Given the description of an element on the screen output the (x, y) to click on. 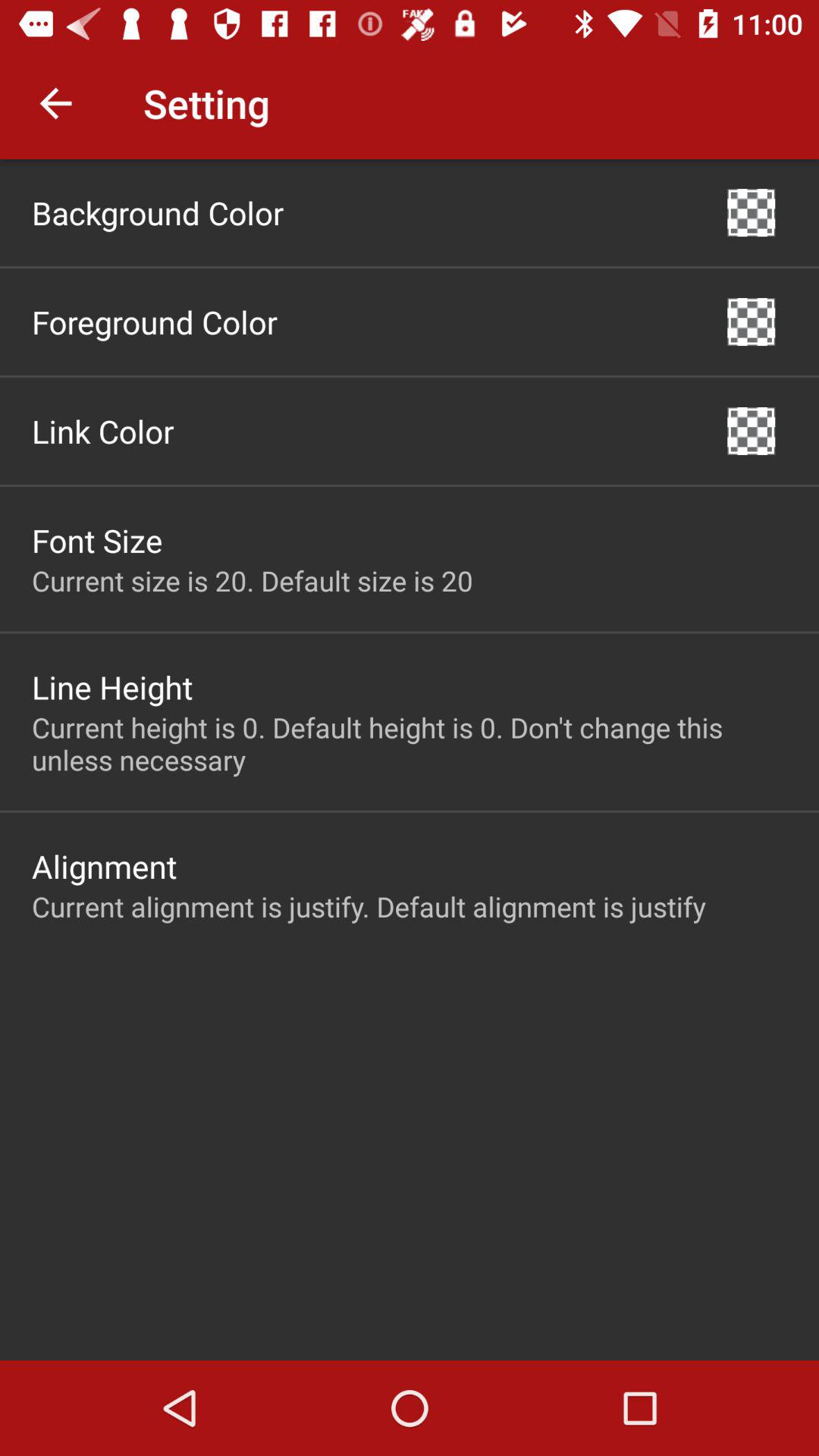
scroll to the font size icon (96, 539)
